Given the description of an element on the screen output the (x, y) to click on. 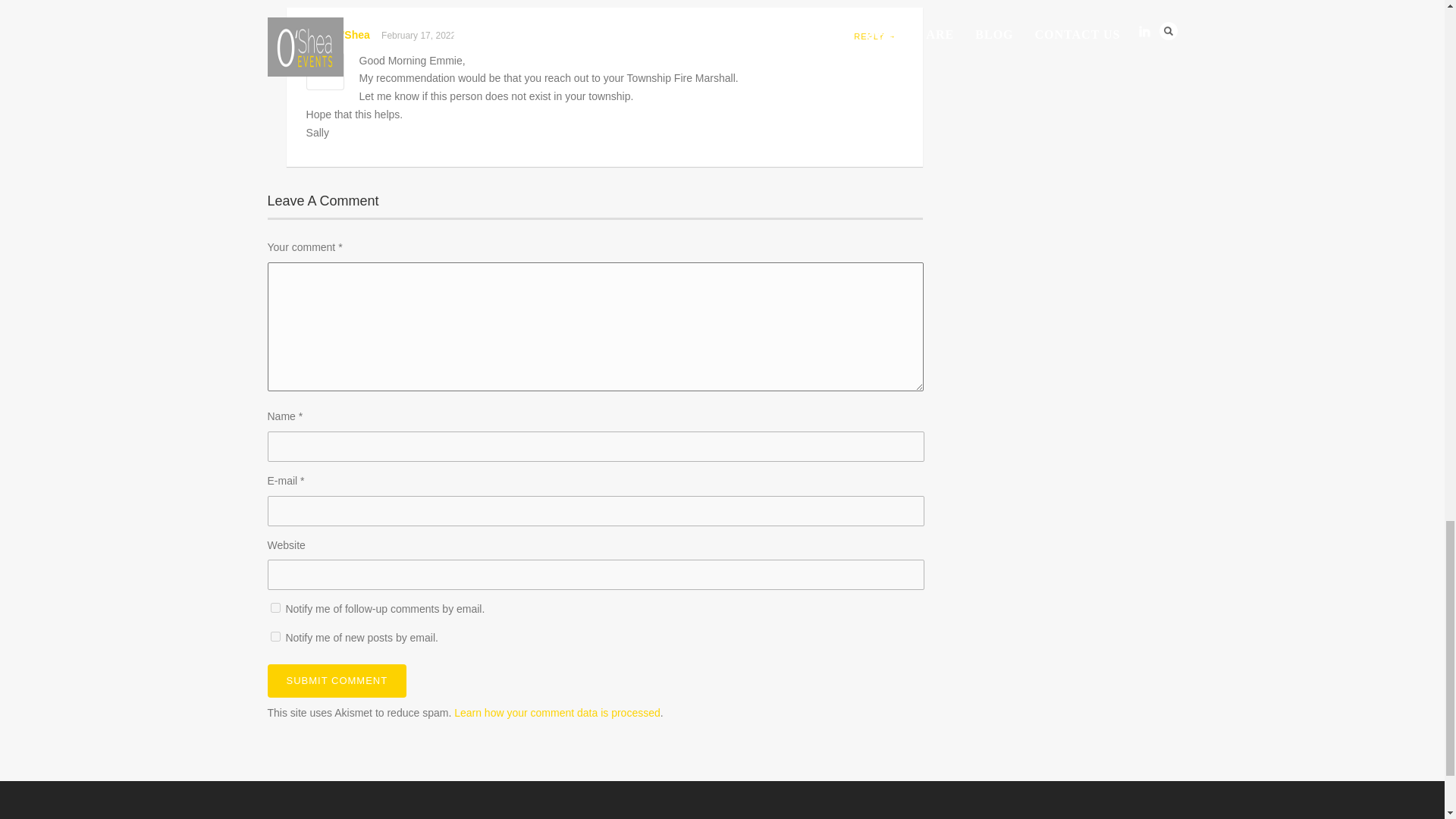
Learn how your comment data is processed (557, 712)
Submit comment (336, 680)
Submit comment (336, 680)
subscribe (274, 636)
subscribe (274, 607)
